Given the description of an element on the screen output the (x, y) to click on. 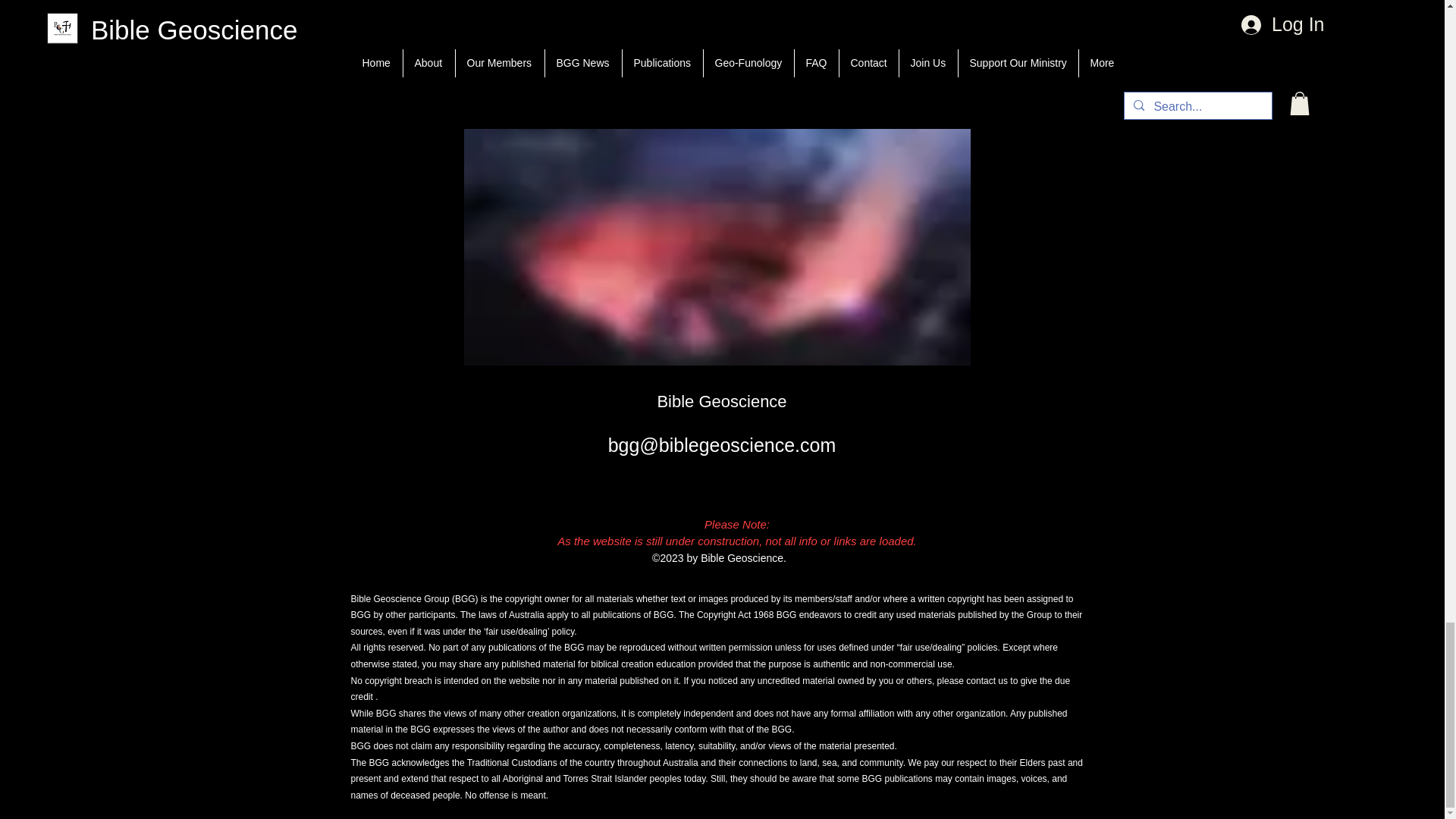
Next (1055, 13)
Previous (388, 13)
